Given the description of an element on the screen output the (x, y) to click on. 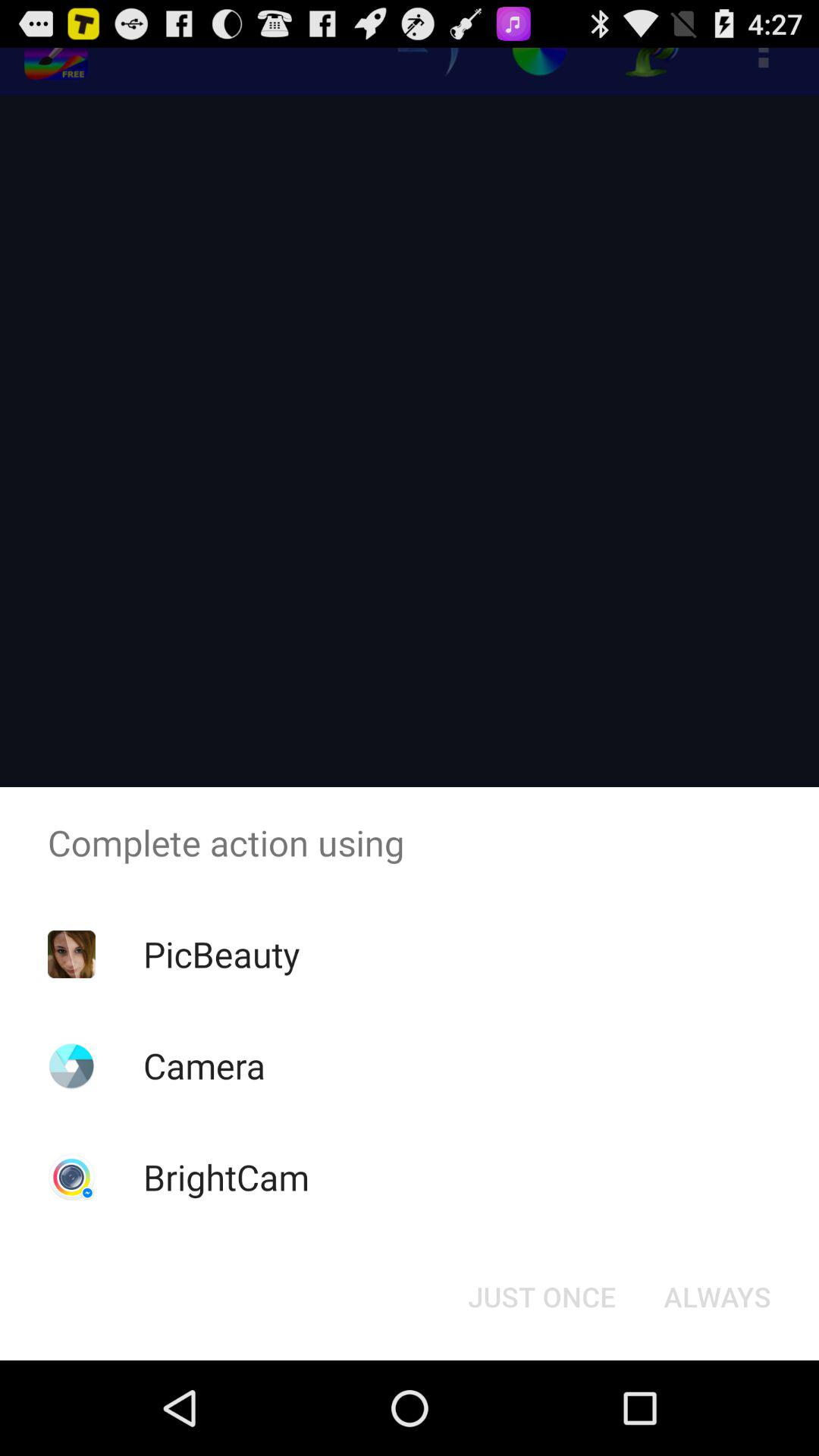
press the button next to the just once icon (717, 1296)
